Given the description of an element on the screen output the (x, y) to click on. 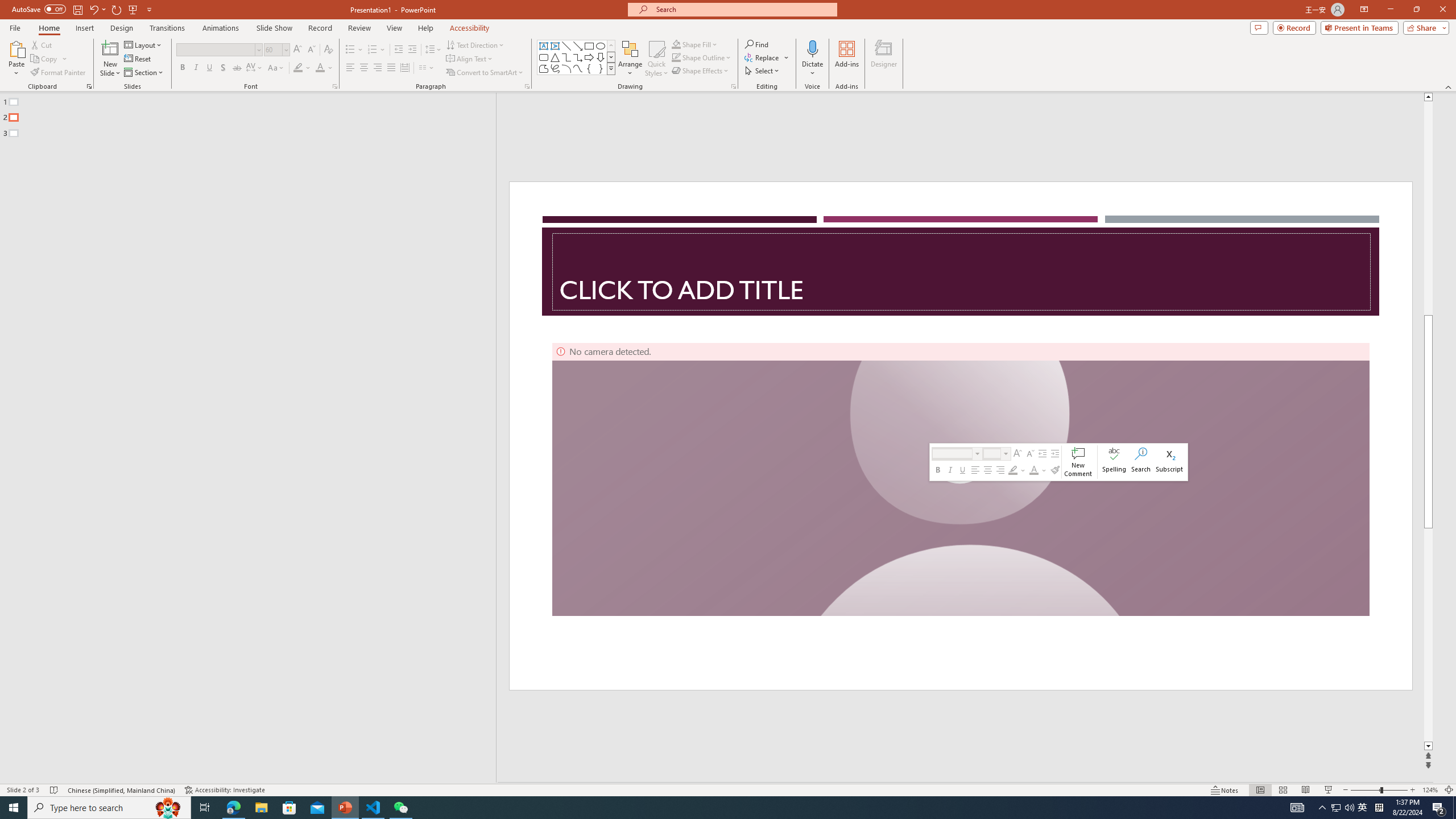
Strikethrough (237, 67)
Quick Access Toolbar (82, 9)
Center (363, 67)
Search (1140, 462)
Increase Indent (412, 49)
Layout (143, 44)
Animations (220, 28)
Align Right (377, 67)
Rectangle: Rounded Corners (543, 57)
Paste (16, 58)
Shape Fill (694, 44)
Ribbon Display Options (1364, 9)
Shape Outline Blue, Accent 1 (675, 56)
Open (285, 49)
Font (215, 49)
